Given the description of an element on the screen output the (x, y) to click on. 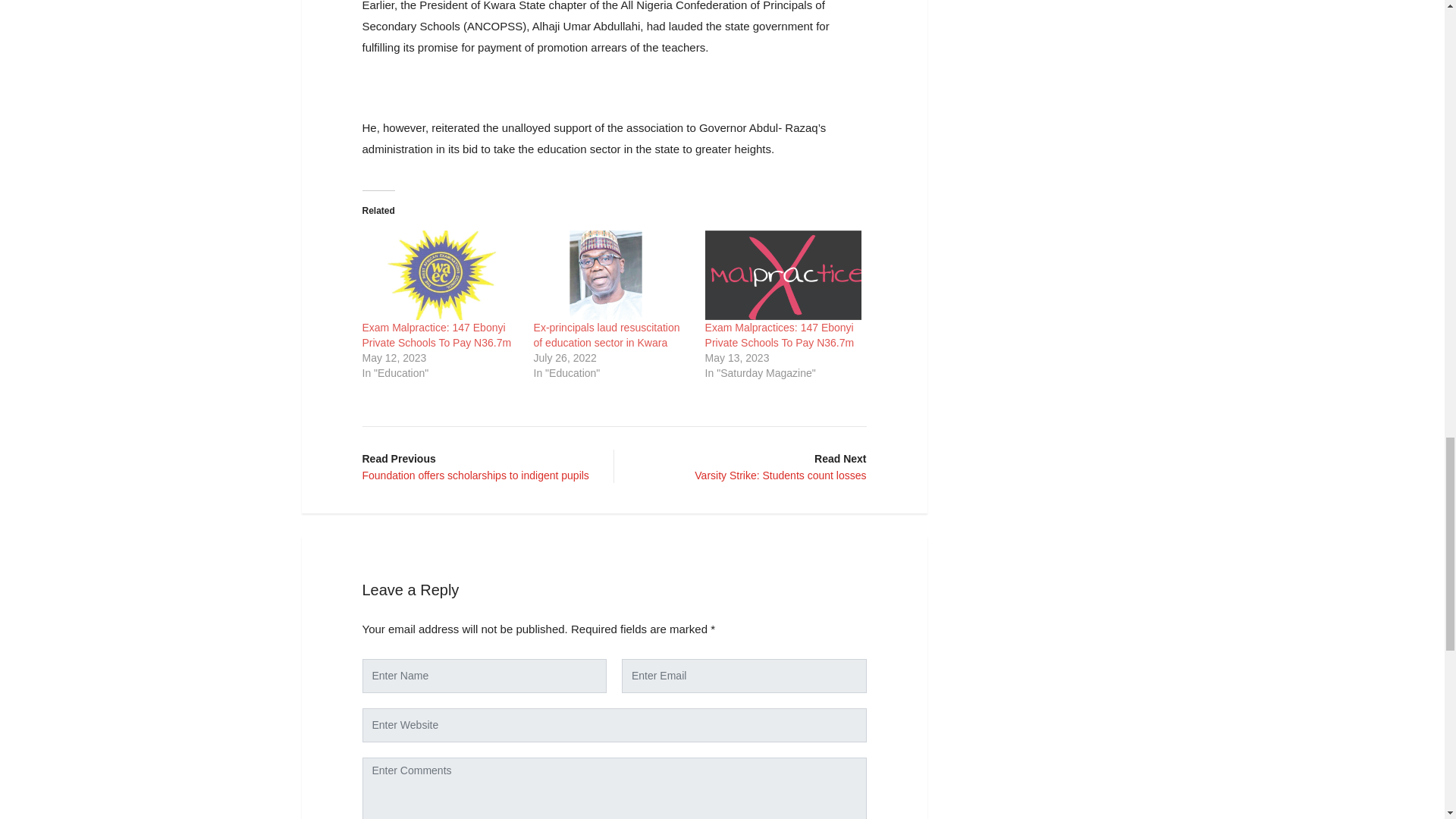
Exam Malpractices: 147 Ebonyi Private Schools To Pay N36.7m (779, 334)
Exam Malpractice: 147 Ebonyi Private Schools To Pay N36.7m (437, 334)
Exam Malpractice: 147 Ebonyi Private Schools To Pay N36.7m (440, 275)
Exam Malpractices: 147 Ebonyi Private Schools To Pay N36.7m (782, 275)
